Given the description of an element on the screen output the (x, y) to click on. 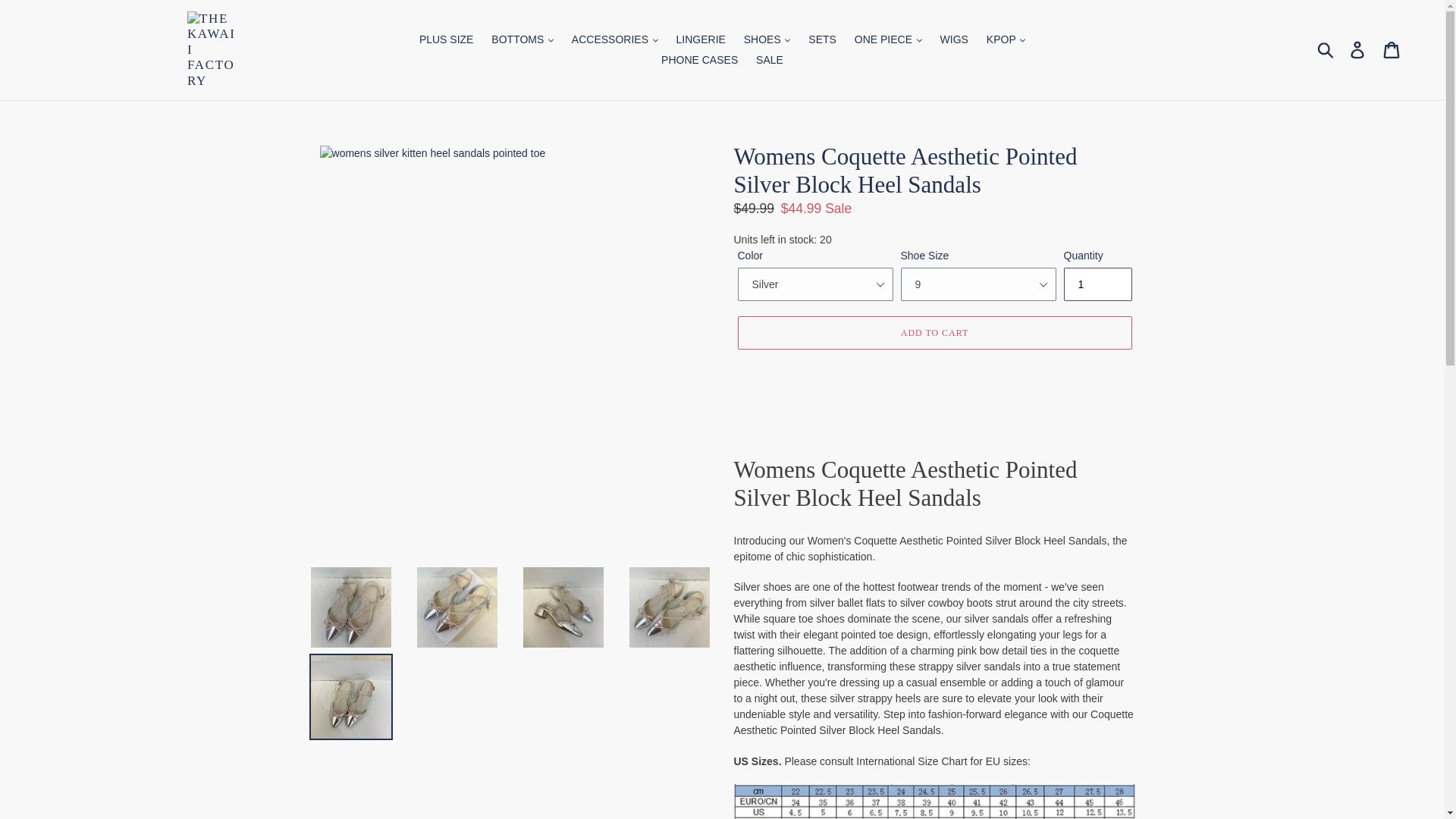
SALE (769, 59)
WIGS (954, 39)
PHONE CASES (699, 59)
1 (1096, 284)
LINGERIE (700, 39)
SETS (822, 39)
PLUS SIZE (446, 39)
Submit (1326, 49)
